Given the description of an element on the screen output the (x, y) to click on. 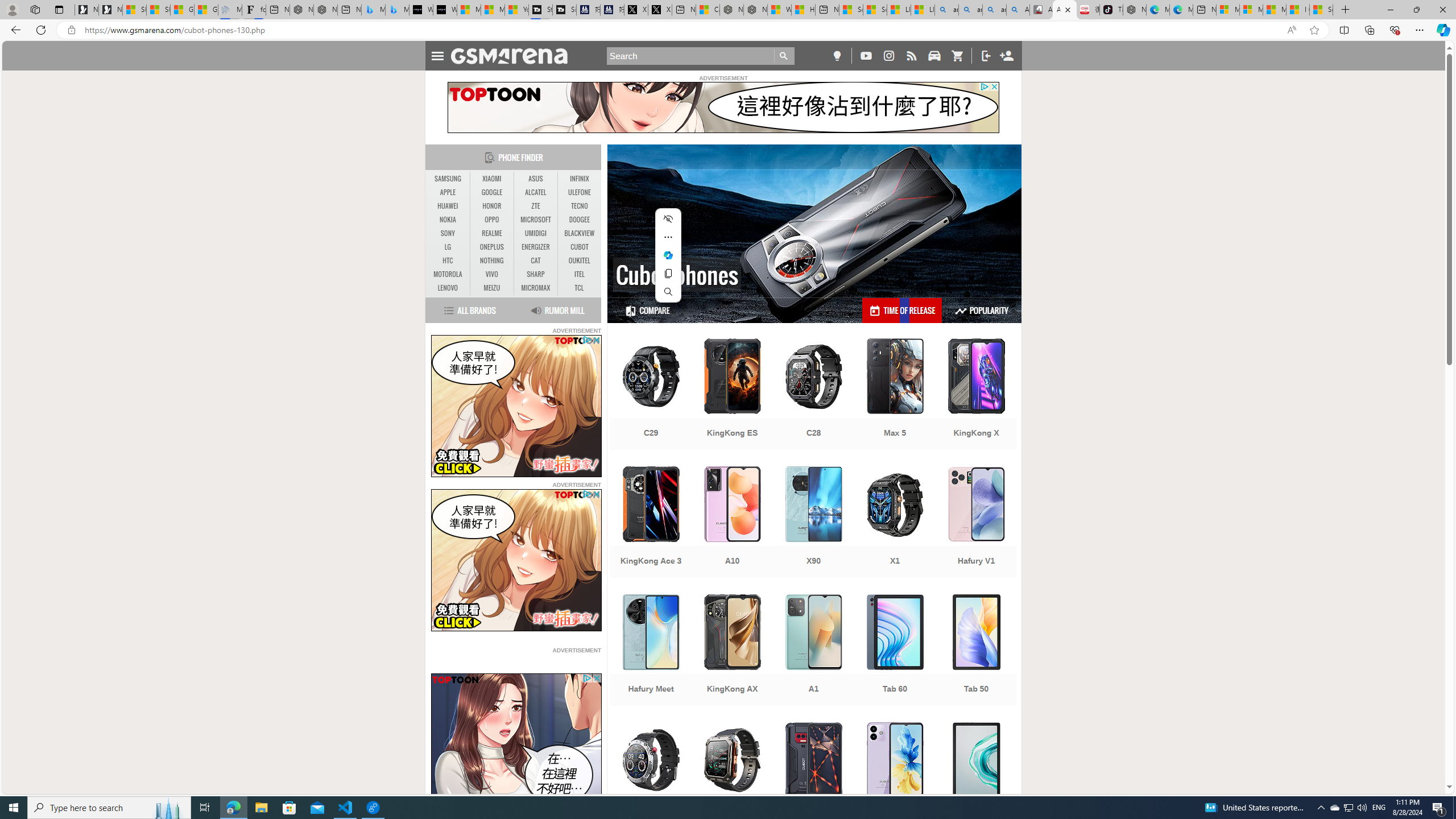
ENERGIZER (535, 246)
OPPO (491, 219)
INFINIX (579, 178)
SHARP (535, 273)
GOOGLE (491, 192)
Hafury V1 (976, 523)
